Given the description of an element on the screen output the (x, y) to click on. 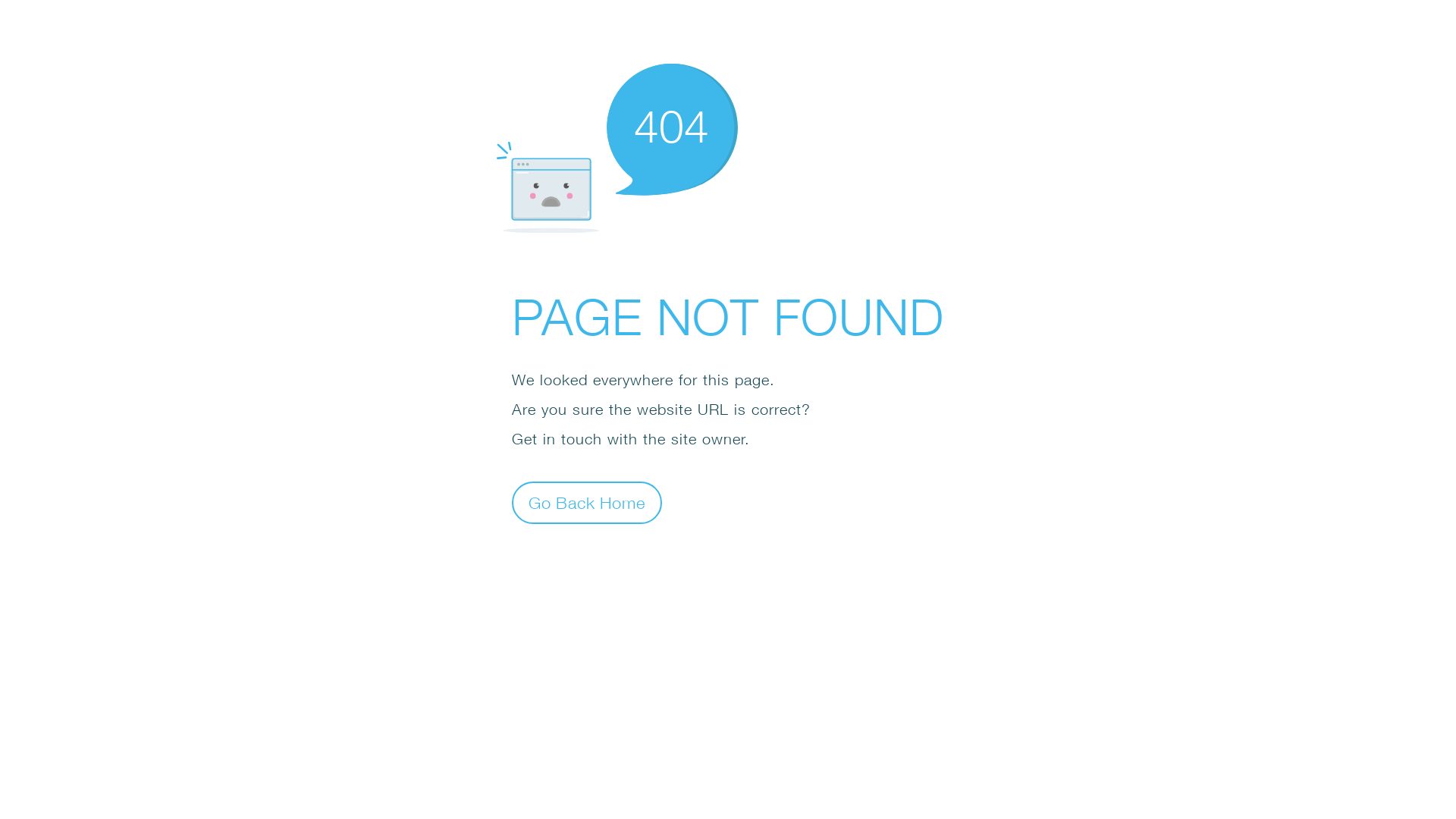
Go Back Home Element type: text (586, 502)
